Given the description of an element on the screen output the (x, y) to click on. 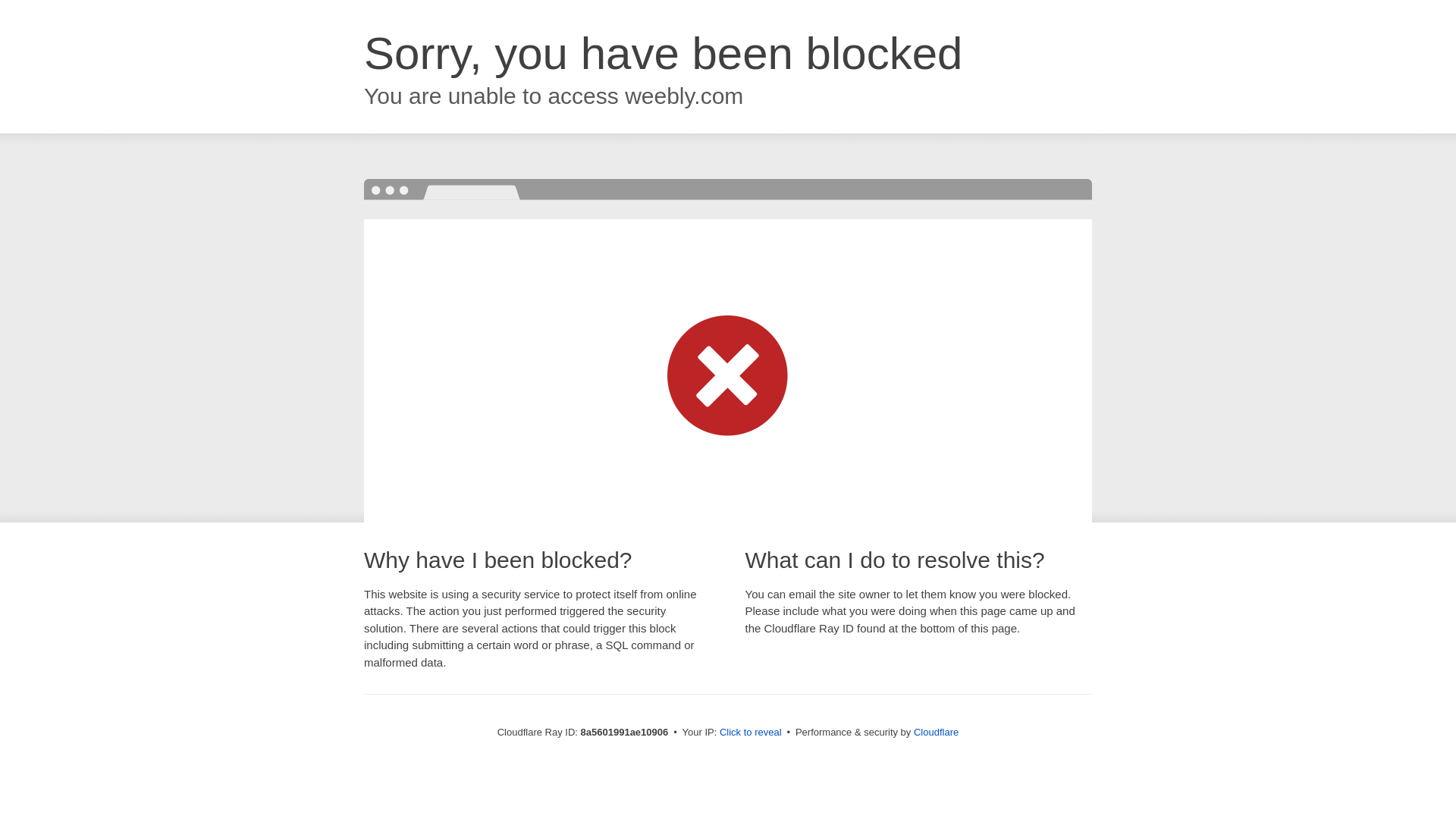
Cloudflare (936, 731)
Click to reveal (750, 732)
